Given the description of an element on the screen output the (x, y) to click on. 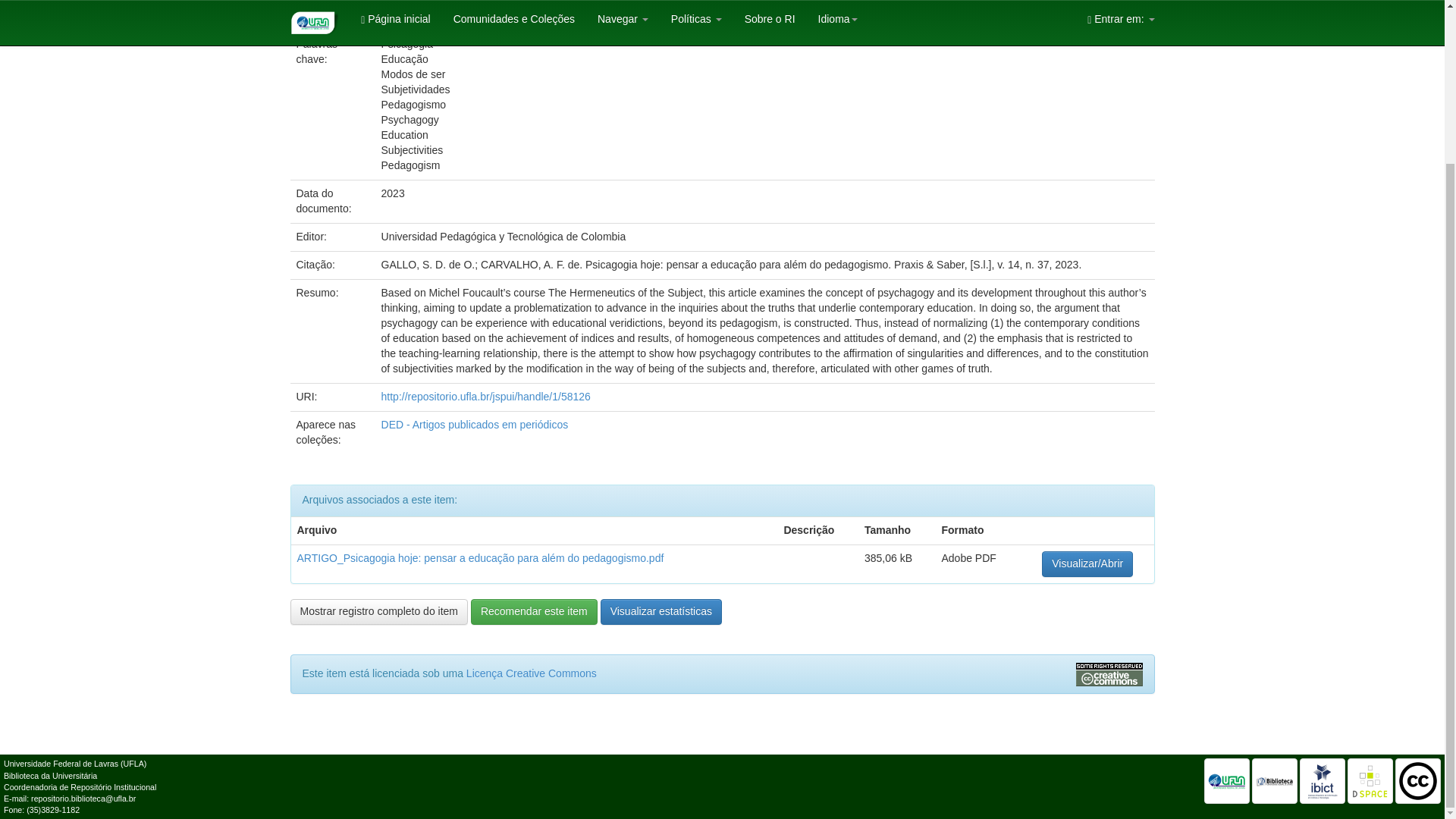
Recomendar este item (533, 611)
Mostrar registro completo do item (378, 611)
